Given the description of an element on the screen output the (x, y) to click on. 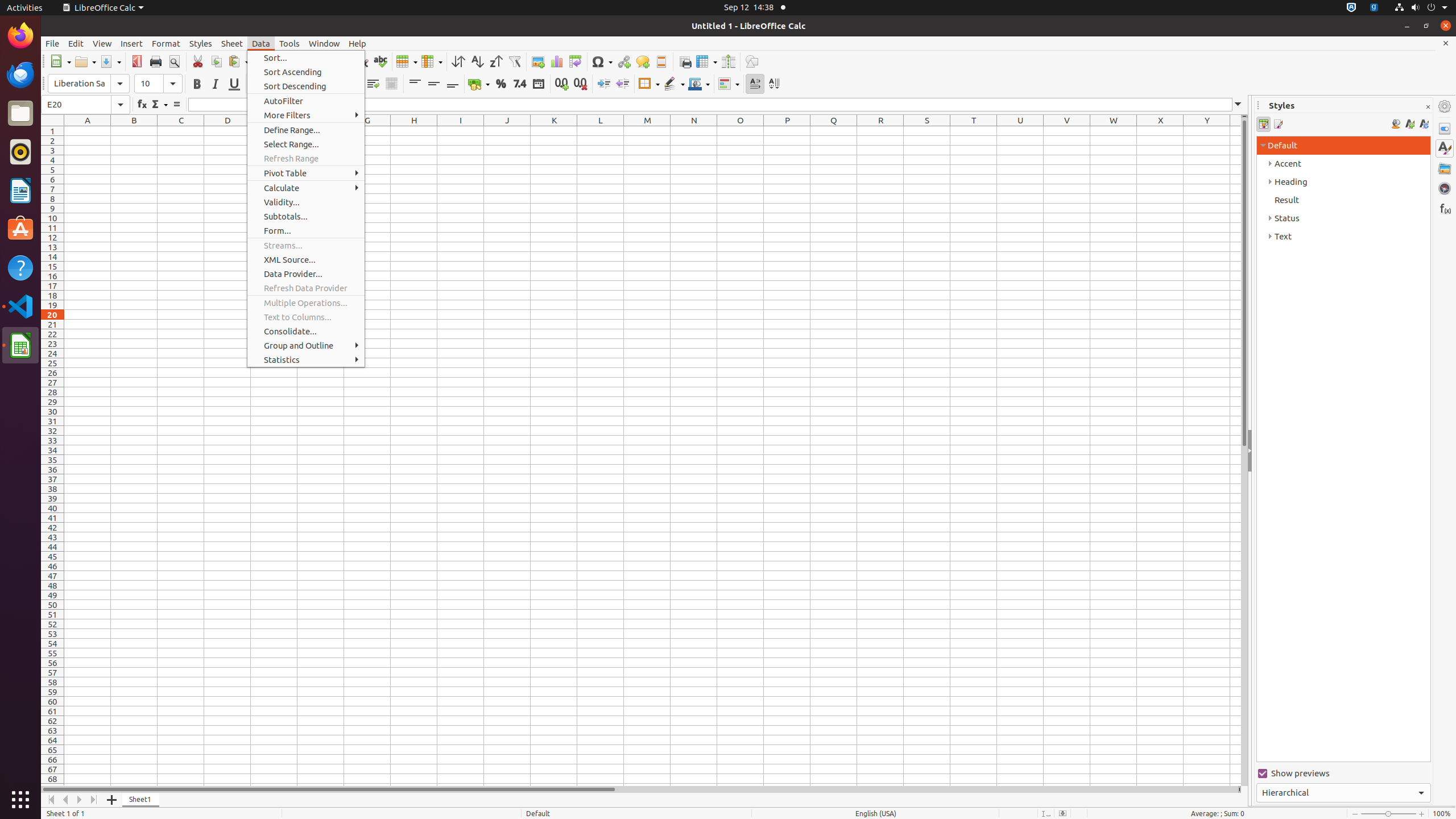
Sheet1 Element type: page-tab (140, 799)
Add Decimal Place Element type: push-button (561, 83)
Italic Element type: toggle-button (214, 83)
Show Applications Element type: toggle-button (20, 799)
Properties Element type: radio-button (1444, 128)
